Given the description of an element on the screen output the (x, y) to click on. 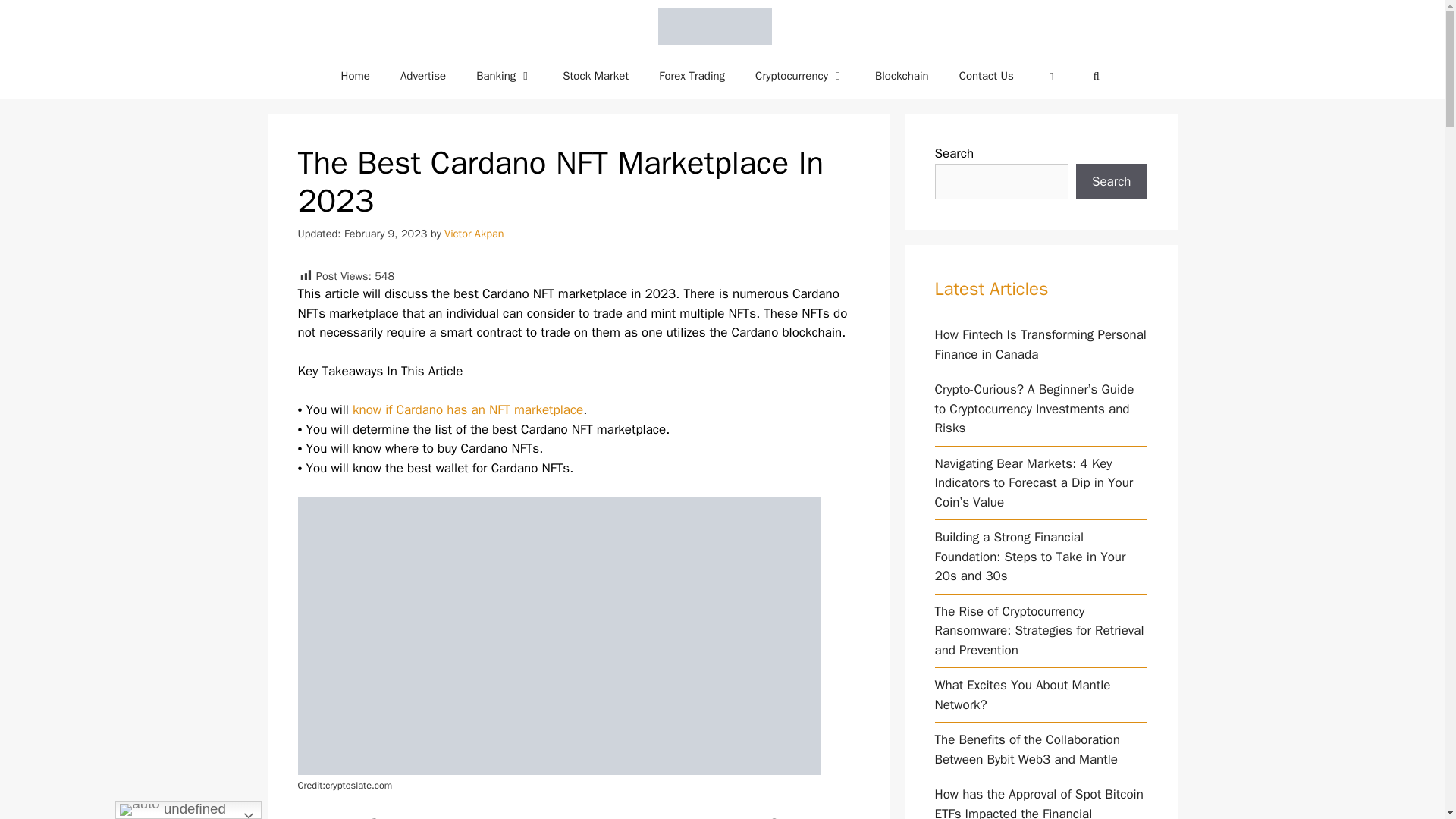
Banking (504, 75)
Victor Akpan (473, 233)
Forex Trading (691, 75)
Blockchain (901, 75)
Cryptocurrency (799, 75)
Contact Us (986, 75)
Advertise (423, 75)
know if Cardano has an NFT marketplace (467, 409)
Coin Decimal (718, 26)
Home (355, 75)
